Given the description of an element on the screen output the (x, y) to click on. 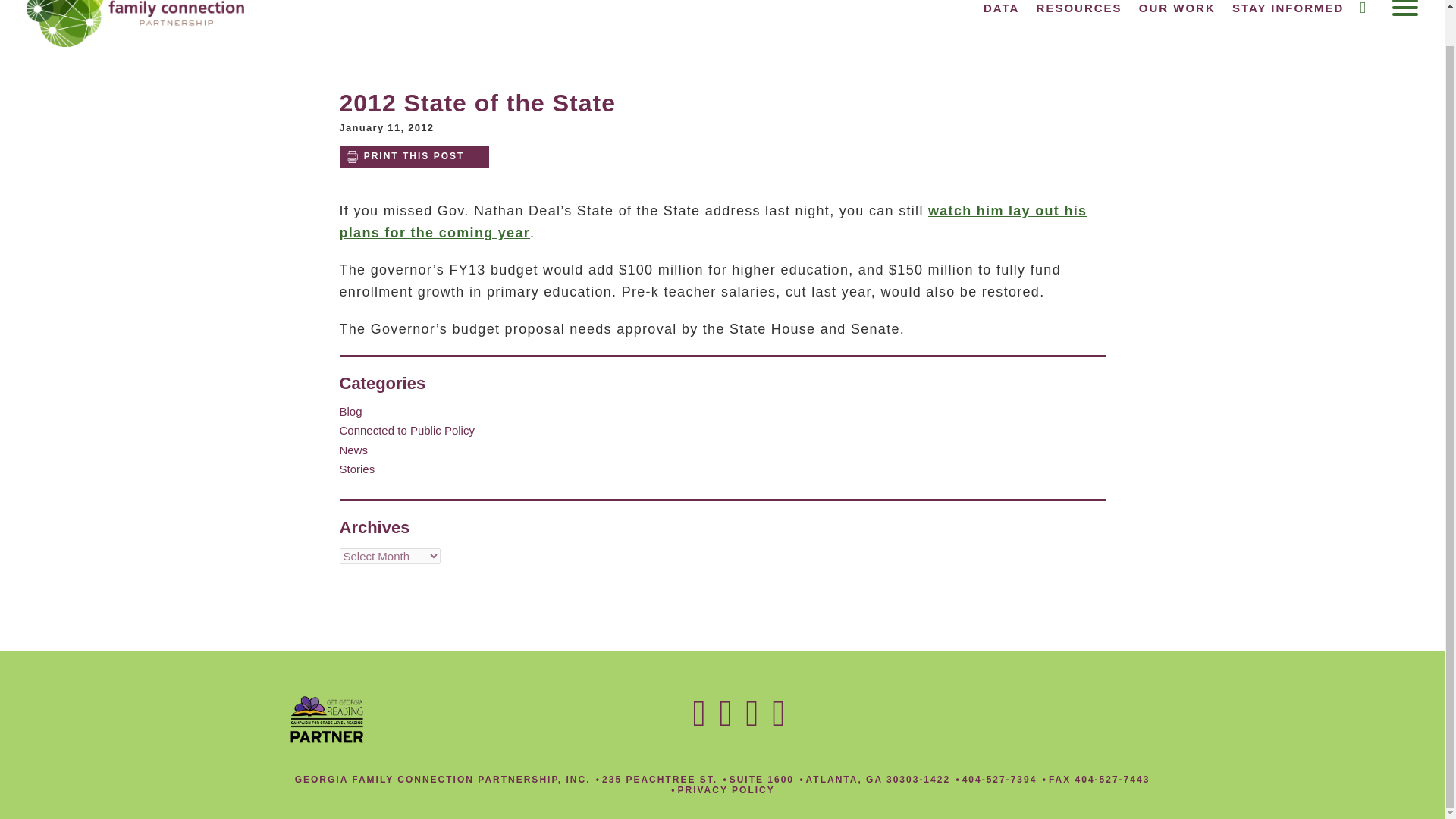
OUR WORK (1176, 7)
RESOURCES (1079, 7)
STAY INFORMED (1287, 7)
Resources (1079, 7)
STAY INFORMED (1287, 7)
Our Work (1176, 7)
Data (1001, 7)
DATA (1001, 7)
